Given the description of an element on the screen output the (x, y) to click on. 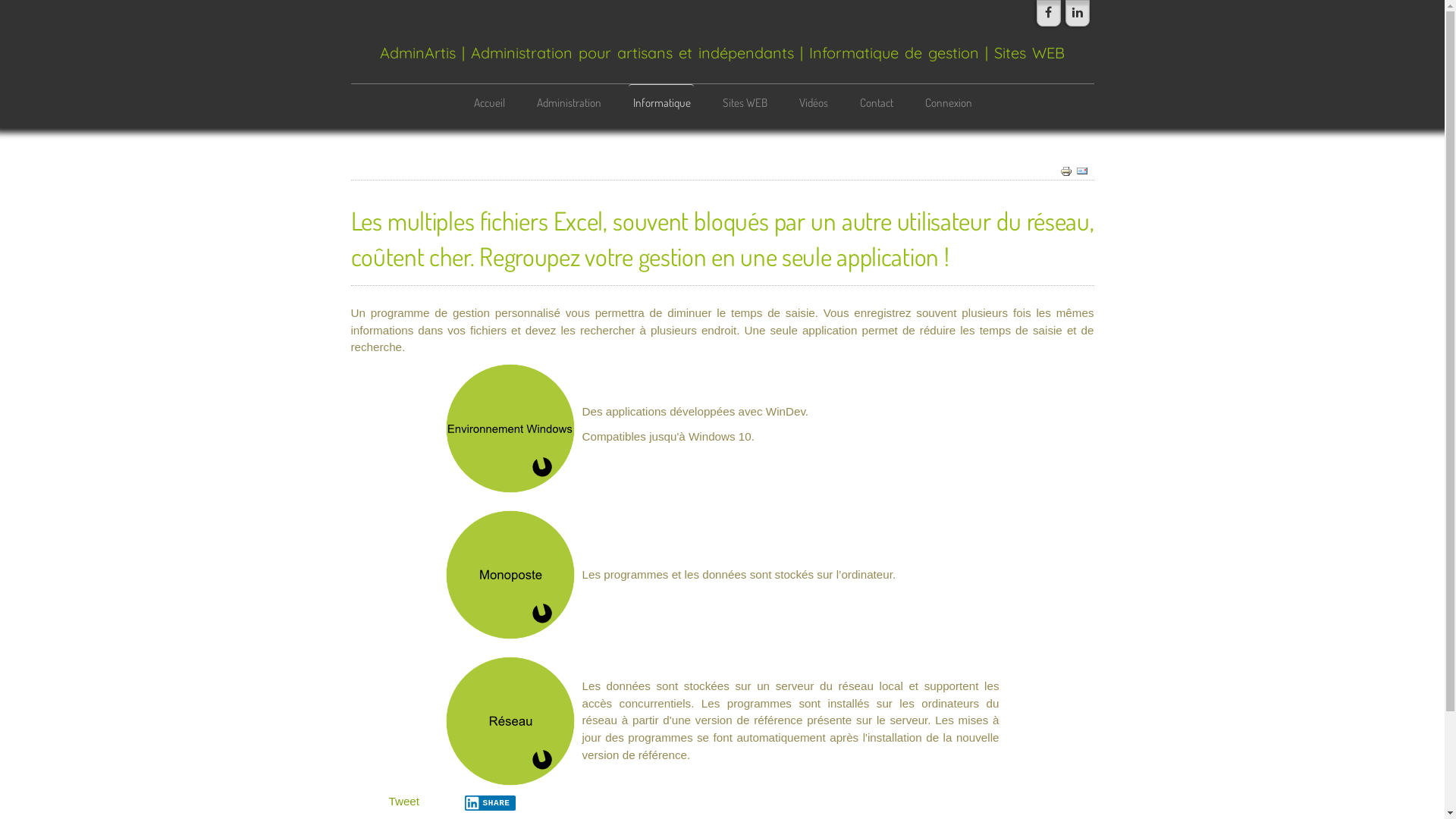
Imprimer l'article < Informatique > Element type: hover (1066, 169)
Sites WEB Element type: text (744, 102)
SHARE Element type: text (489, 802)
Tweet Element type: text (403, 800)
Connexion Element type: text (947, 102)
Accueil Element type: text (488, 102)
Facebook Element type: hover (1047, 13)
Administration Element type: text (568, 102)
Contact Element type: text (875, 102)
Linkedin Element type: hover (1076, 13)
Informatique Element type: text (660, 102)
